Given the description of an element on the screen output the (x, y) to click on. 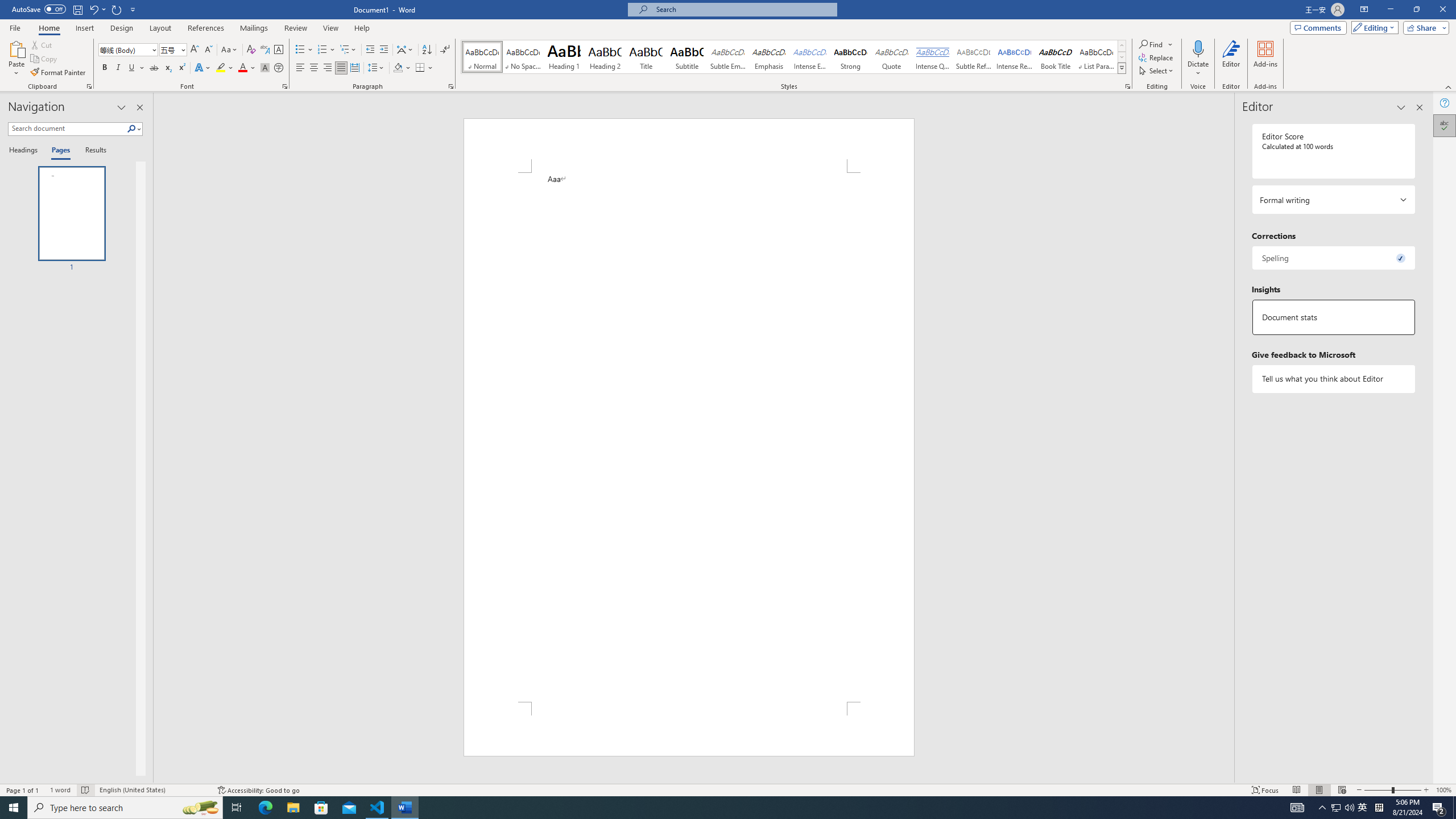
Subtle Reference (973, 56)
